Given the description of an element on the screen output the (x, y) to click on. 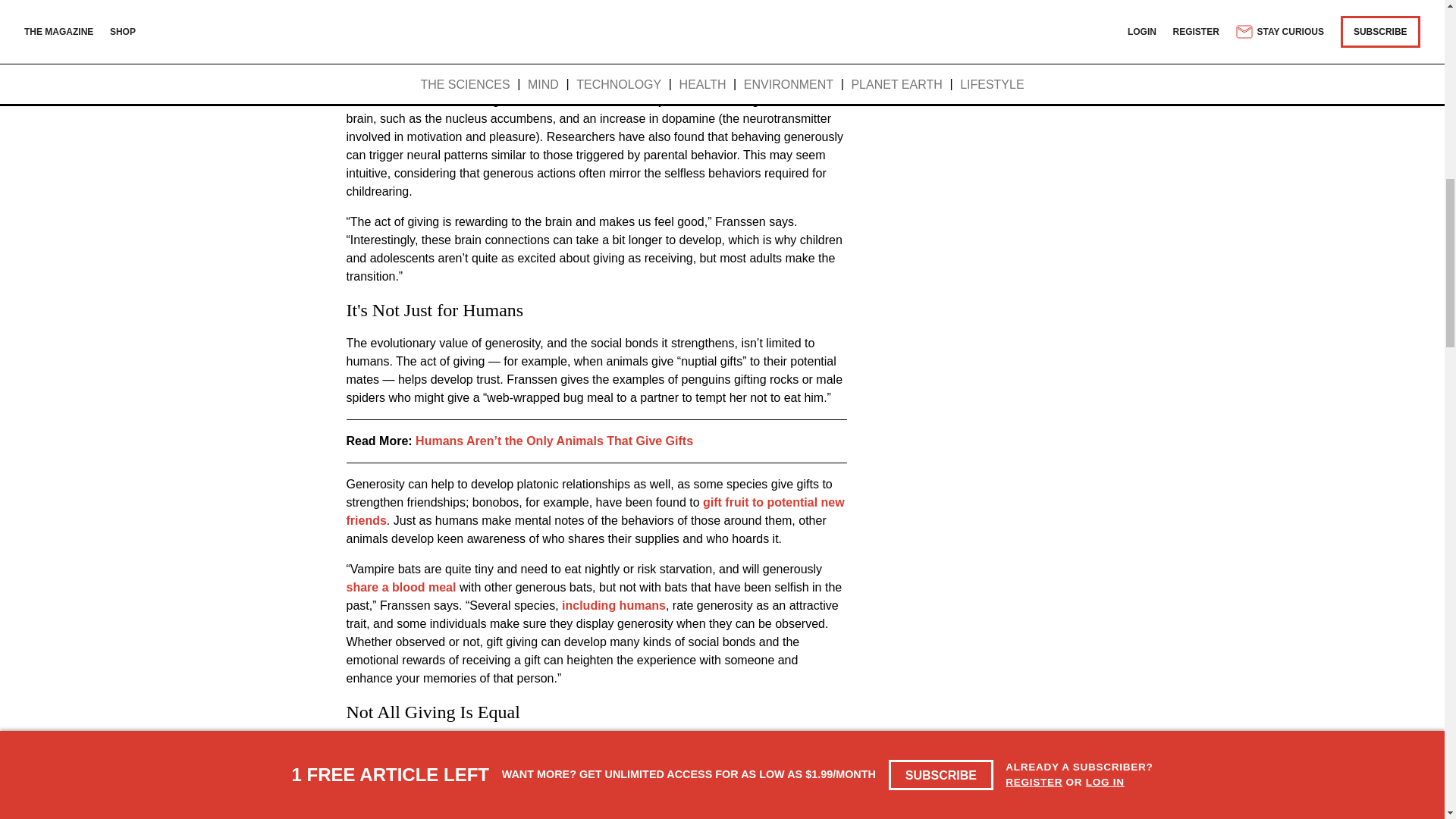
gift fruit to potential new friends (595, 511)
share a blood meal (400, 586)
Other studies (384, 100)
identifiable victim effect (564, 792)
including humans (612, 604)
in a press release (591, 42)
